Given the description of an element on the screen output the (x, y) to click on. 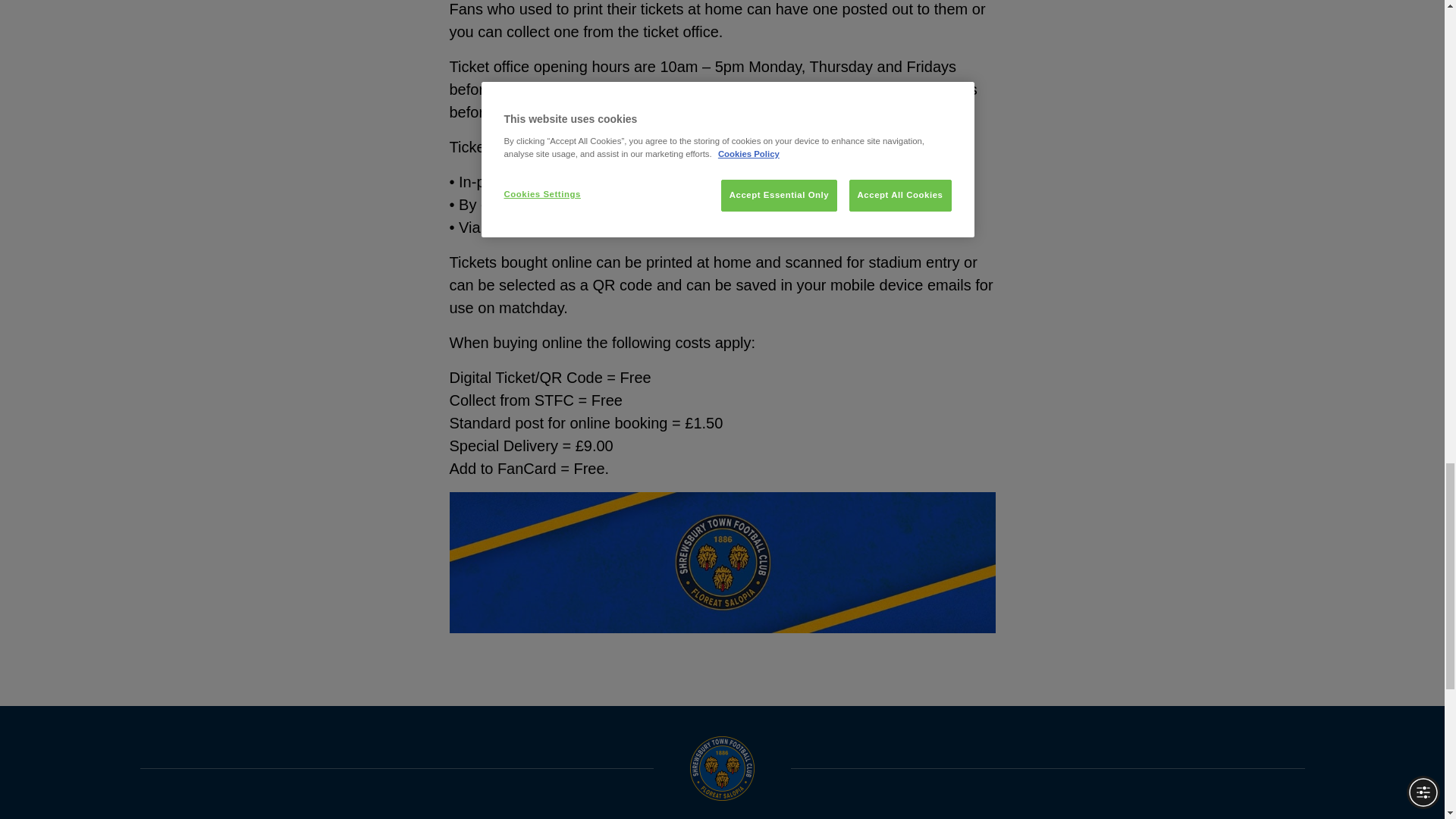
click here (684, 227)
